Given the description of an element on the screen output the (x, y) to click on. 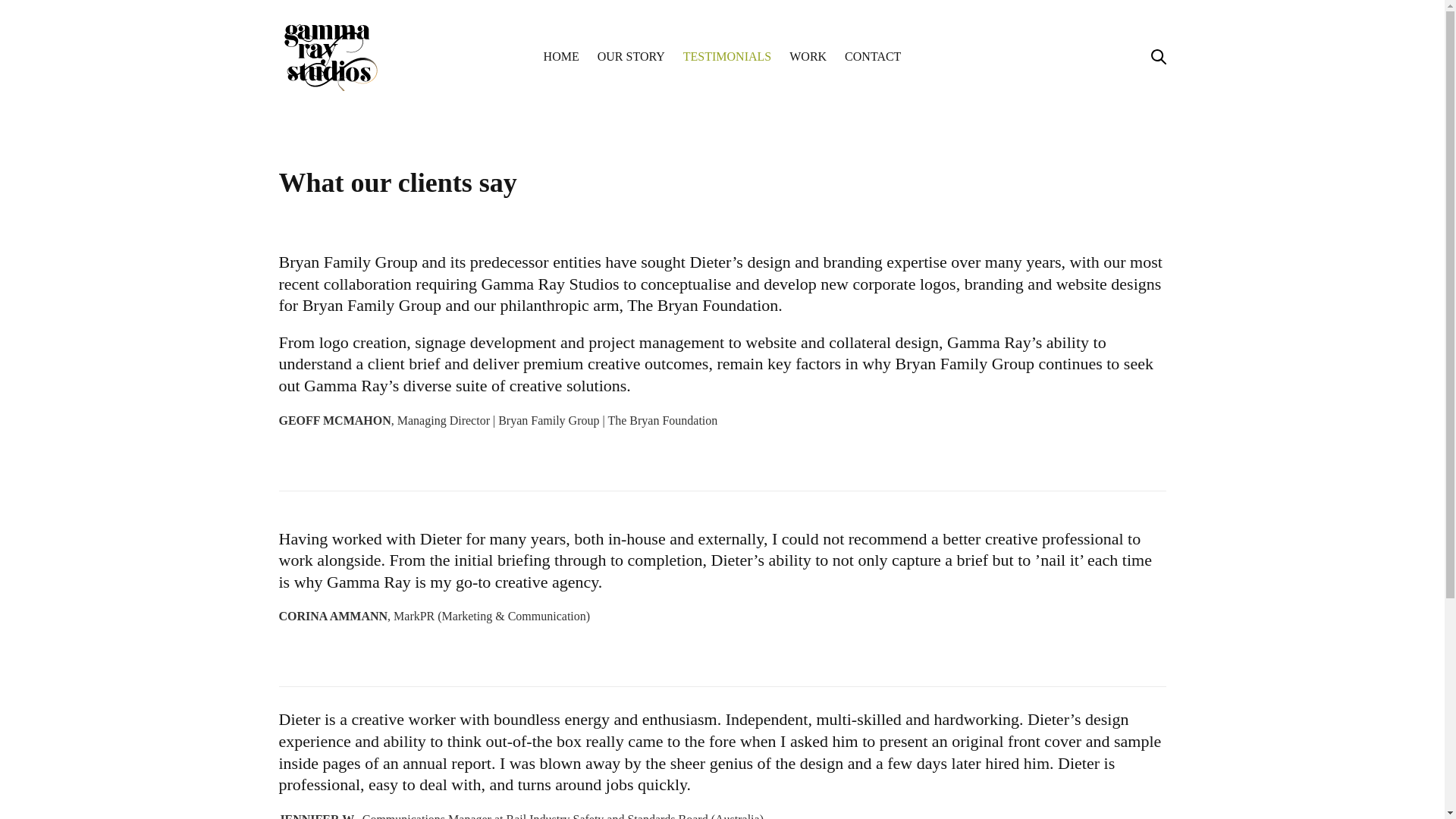
CONTACT Element type: text (872, 56)
TESTIMONIALS Element type: text (727, 56)
WORK Element type: text (807, 56)
OUR STORY Element type: text (631, 56)
HOME Element type: text (561, 56)
